Given the description of an element on the screen output the (x, y) to click on. 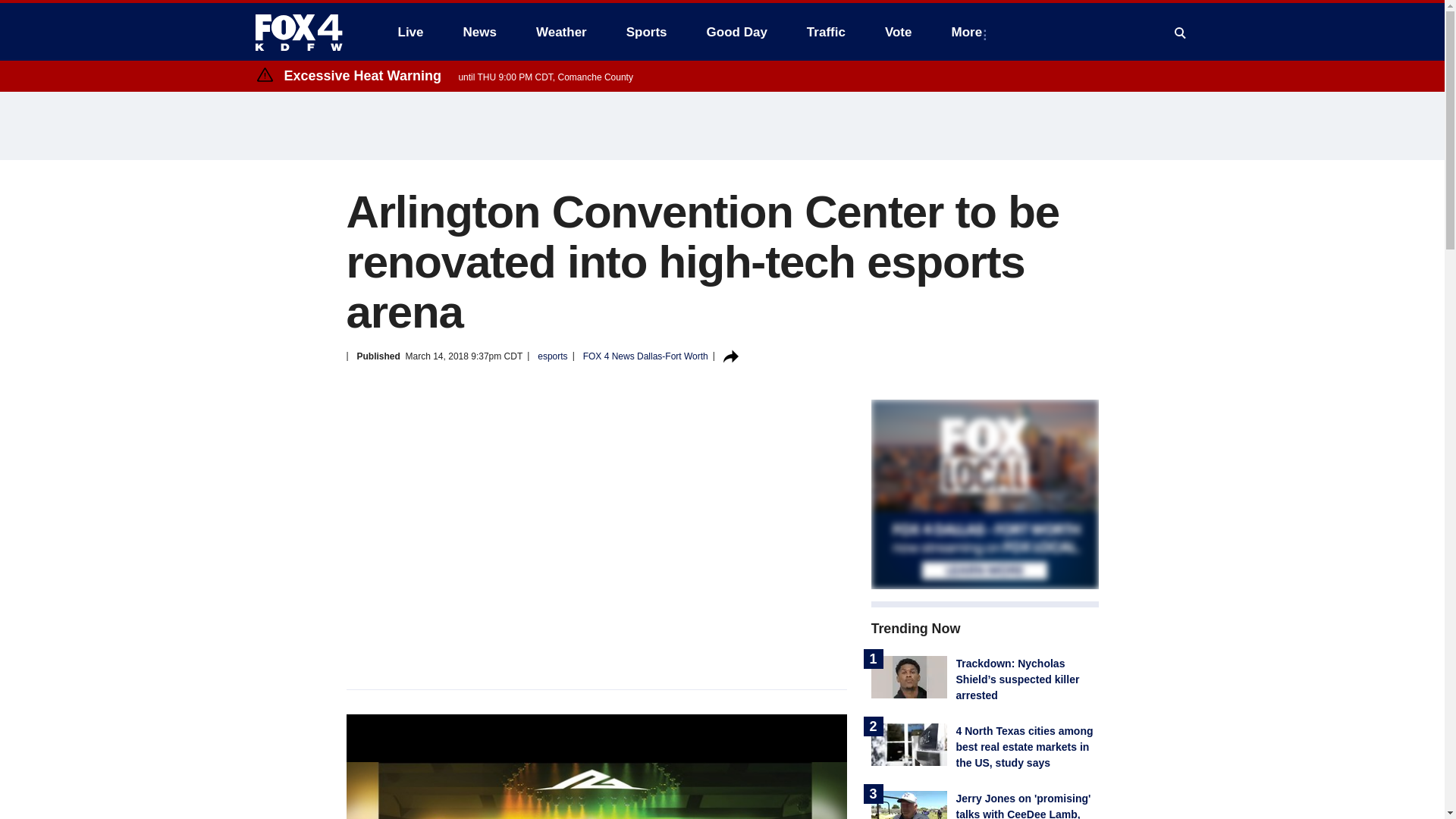
Live (410, 32)
Good Day (736, 32)
News (479, 32)
Sports (646, 32)
Traffic (825, 32)
Weather (561, 32)
Vote (898, 32)
More (969, 32)
